Given the description of an element on the screen output the (x, y) to click on. 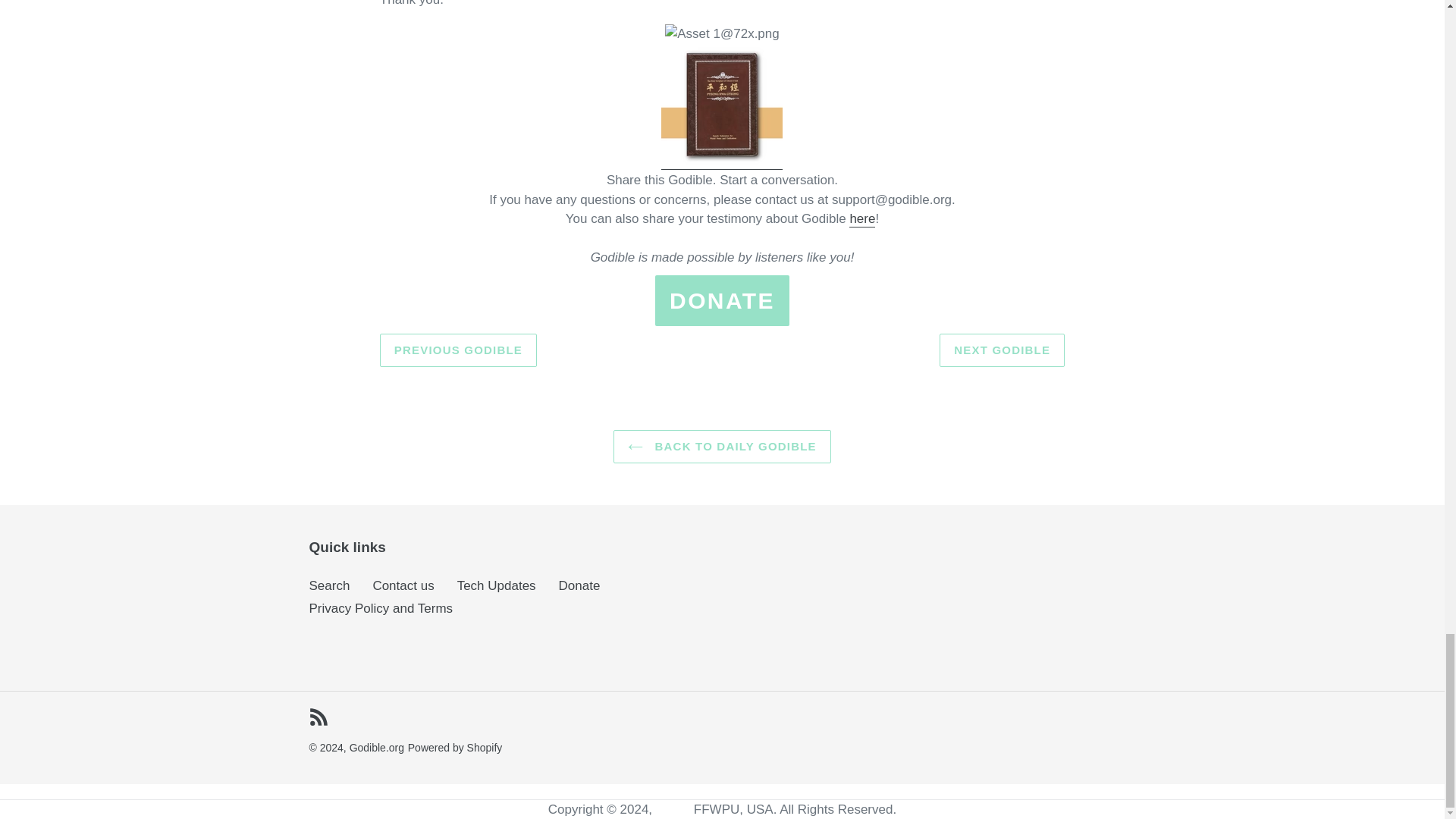
here (861, 219)
PREVIOUS GODIBLE (458, 350)
NEXT GODIBLE (1001, 350)
DONATE (722, 300)
